Given the description of an element on the screen output the (x, y) to click on. 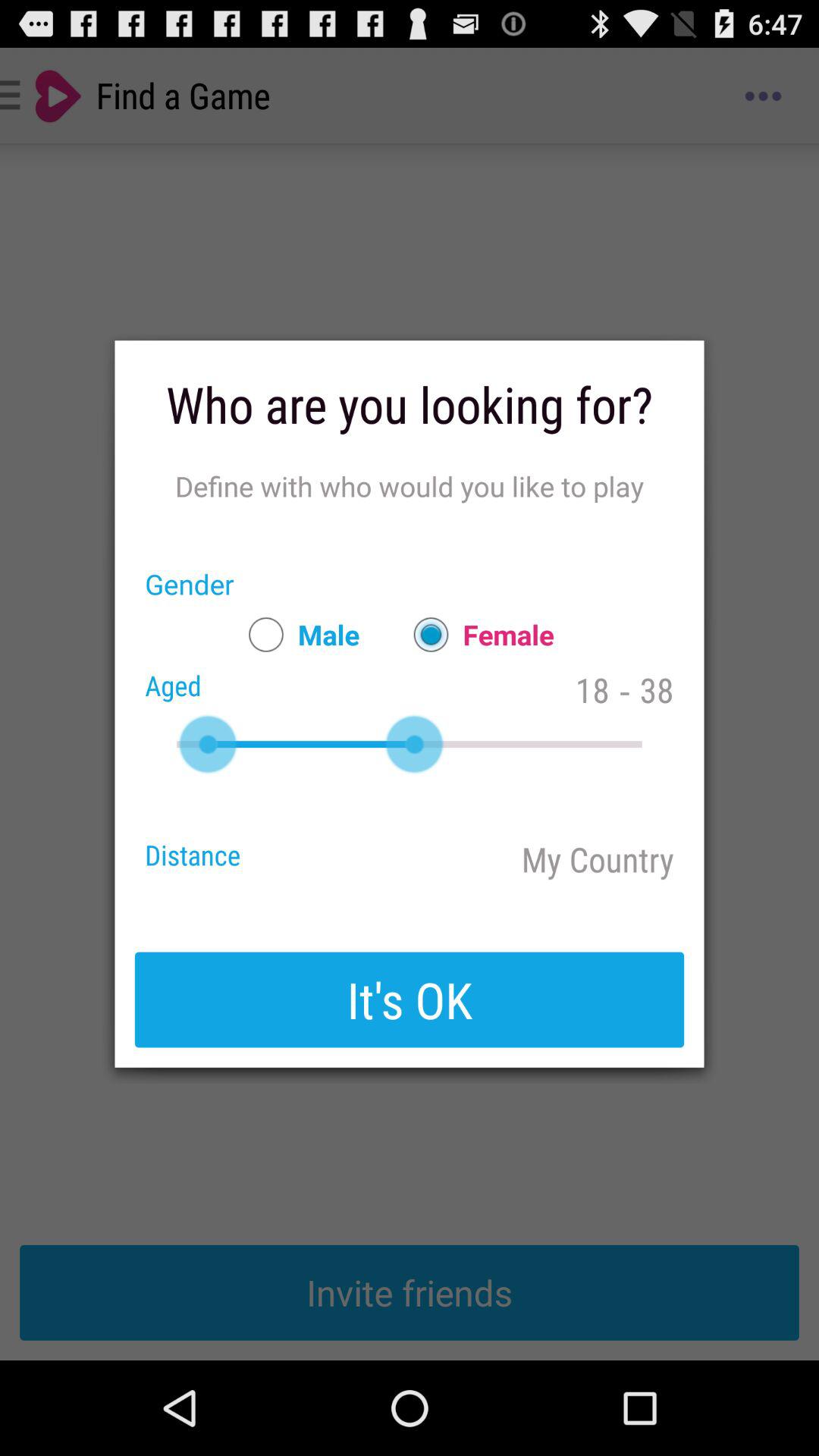
flip until male (296, 634)
